Given the description of an element on the screen output the (x, y) to click on. 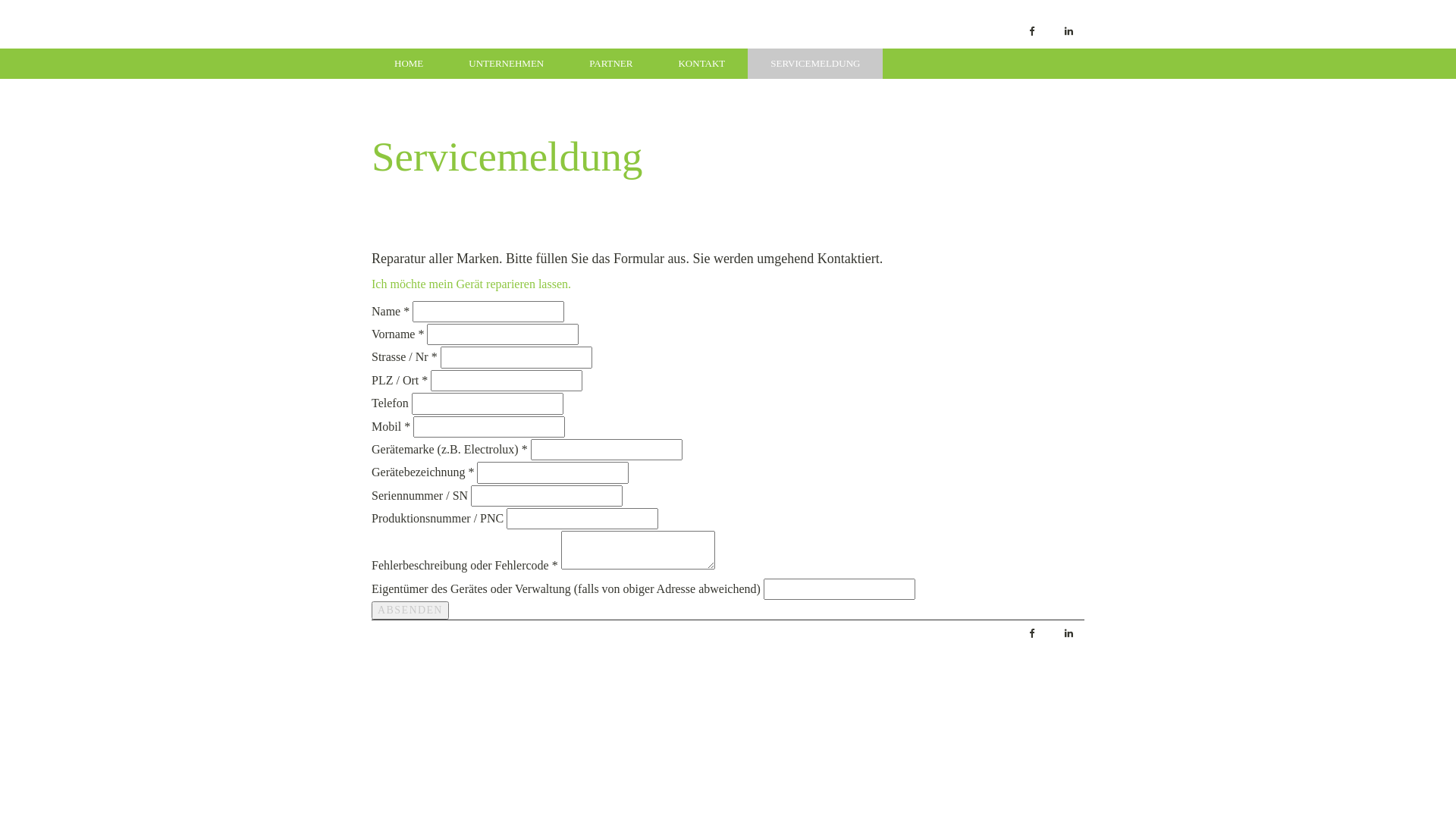
KONTAKT Element type: text (701, 63)
ABSENDEN Element type: text (409, 610)
SERVICEMELDUNG Element type: text (814, 63)
HOME Element type: text (408, 63)
UNTERNEHMEN Element type: text (505, 63)
PARTNER Element type: text (610, 63)
